Given the description of an element on the screen output the (x, y) to click on. 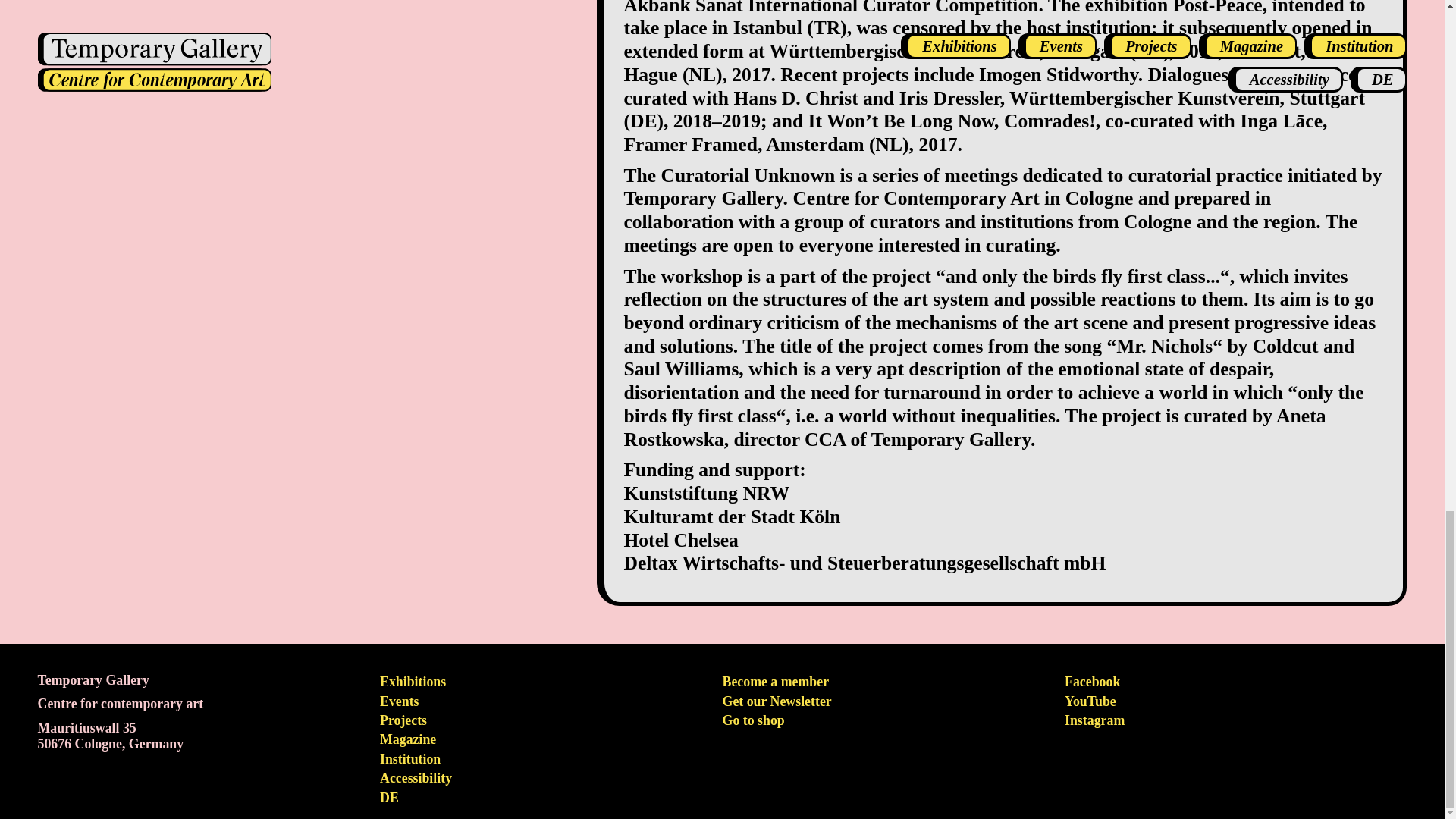
Facebook (1091, 681)
YouTube (1090, 701)
Go to shop (753, 720)
Become a member (775, 681)
Exhibitions (412, 681)
Get our Newsletter (776, 701)
Projects (403, 720)
Institution (410, 758)
Accessibility (415, 777)
Instagram (1094, 720)
Magazine (407, 739)
Events (399, 701)
DE (389, 797)
